Given the description of an element on the screen output the (x, y) to click on. 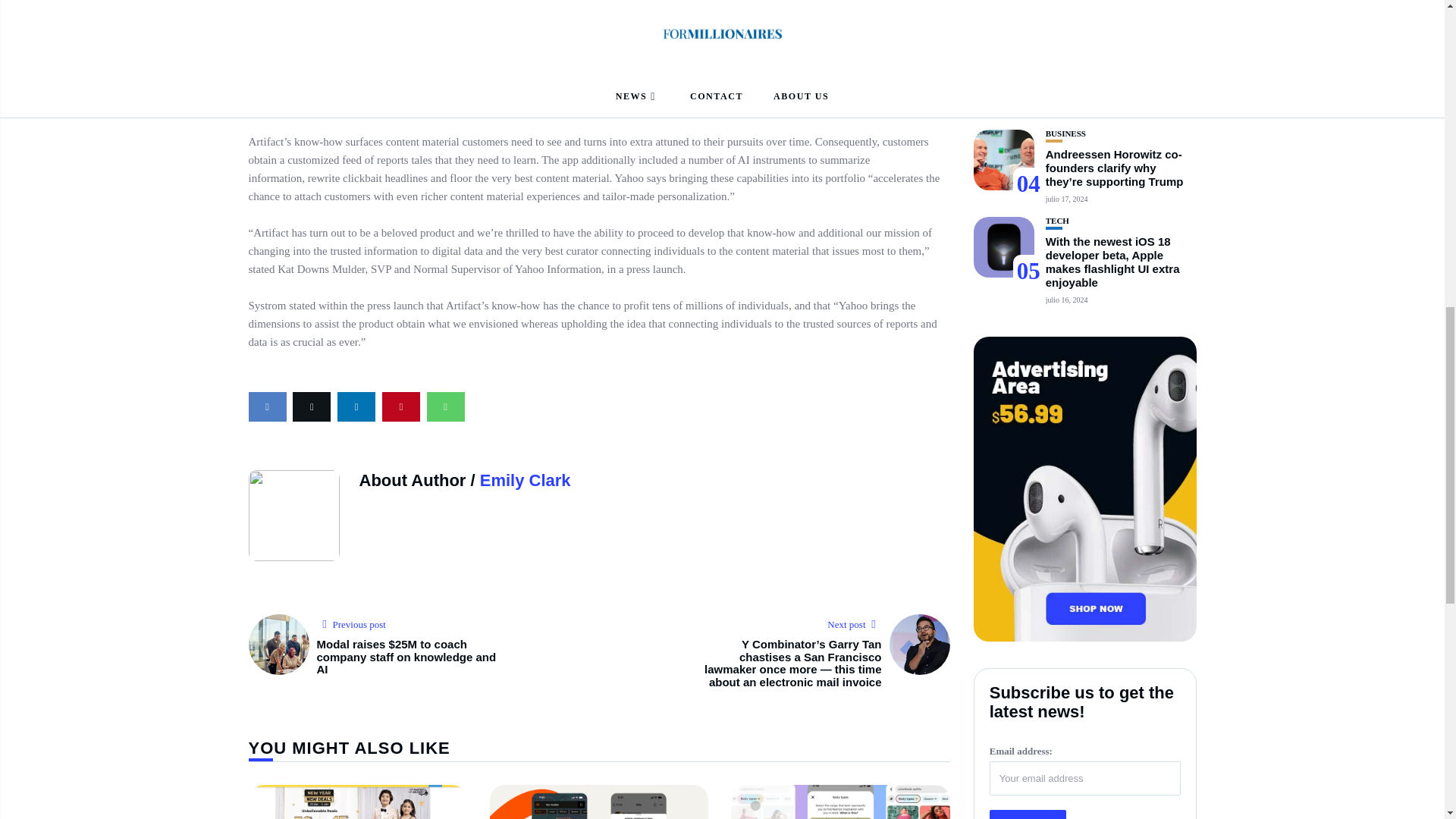
Sign up (1027, 803)
Emily Clark (525, 479)
Entradas de Emily Clark (525, 479)
facebook (267, 406)
